Given the description of an element on the screen output the (x, y) to click on. 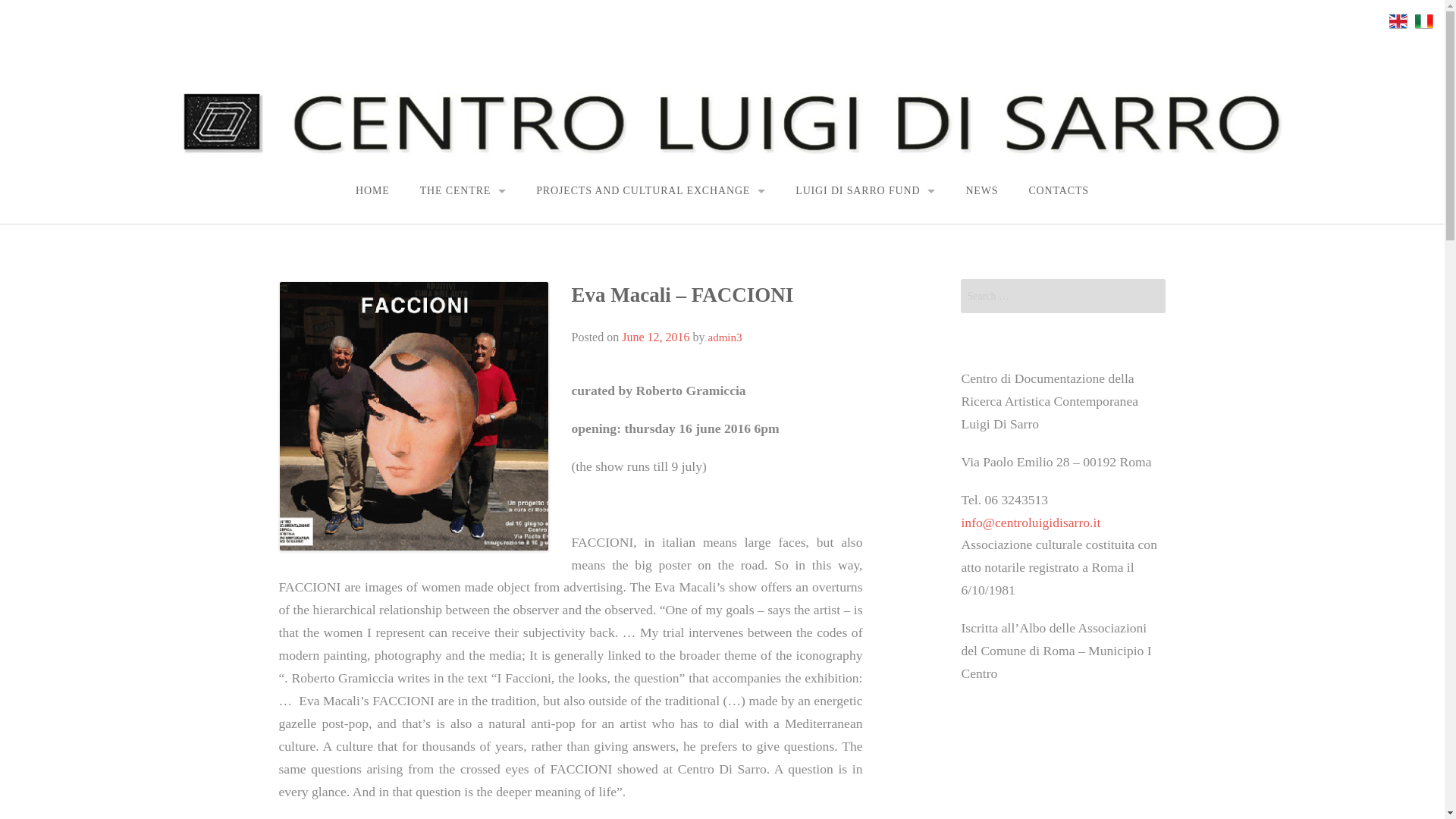
ABOUT US (463, 231)
HISTORY (463, 265)
admin3 (724, 337)
HISTORICAL ARCHIVE (864, 367)
June 12, 2016 (654, 336)
EXHIBITIONS SINCE 2005 (347, 334)
CULTURAL EXCHANGES (649, 299)
DRAWING AND GRAPHIC (696, 368)
BIBLIOGRAPHY (864, 265)
VAA PROJECT (649, 231)
BIOGRAPHY (864, 231)
CRITICAL ANTHOLOGY (864, 299)
PROJECTS AND CULTURAL EXCHANGE (650, 190)
English  (1398, 21)
COLLECTIONS (864, 333)
